Given the description of an element on the screen output the (x, y) to click on. 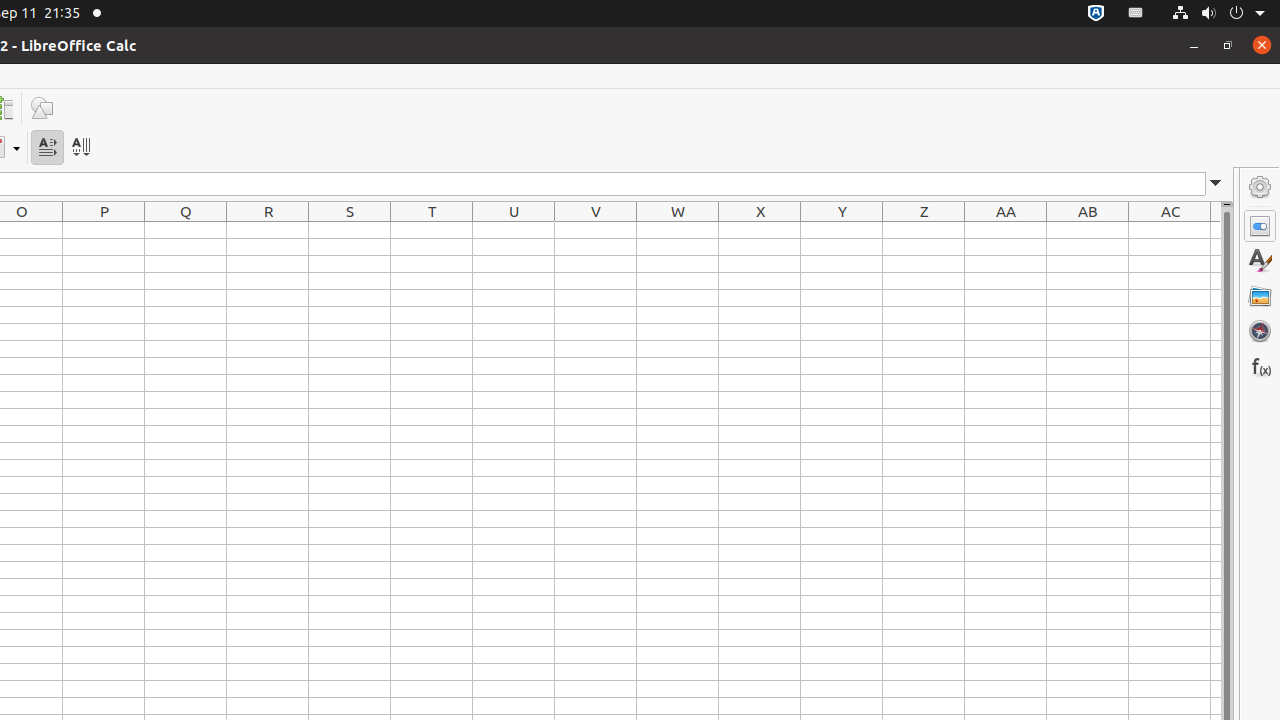
U1 Element type: table-cell (514, 230)
AB1 Element type: table-cell (1088, 230)
Expand Formula Bar Element type: push-button (1216, 183)
X1 Element type: table-cell (760, 230)
AA1 Element type: table-cell (1006, 230)
